Given the description of an element on the screen output the (x, y) to click on. 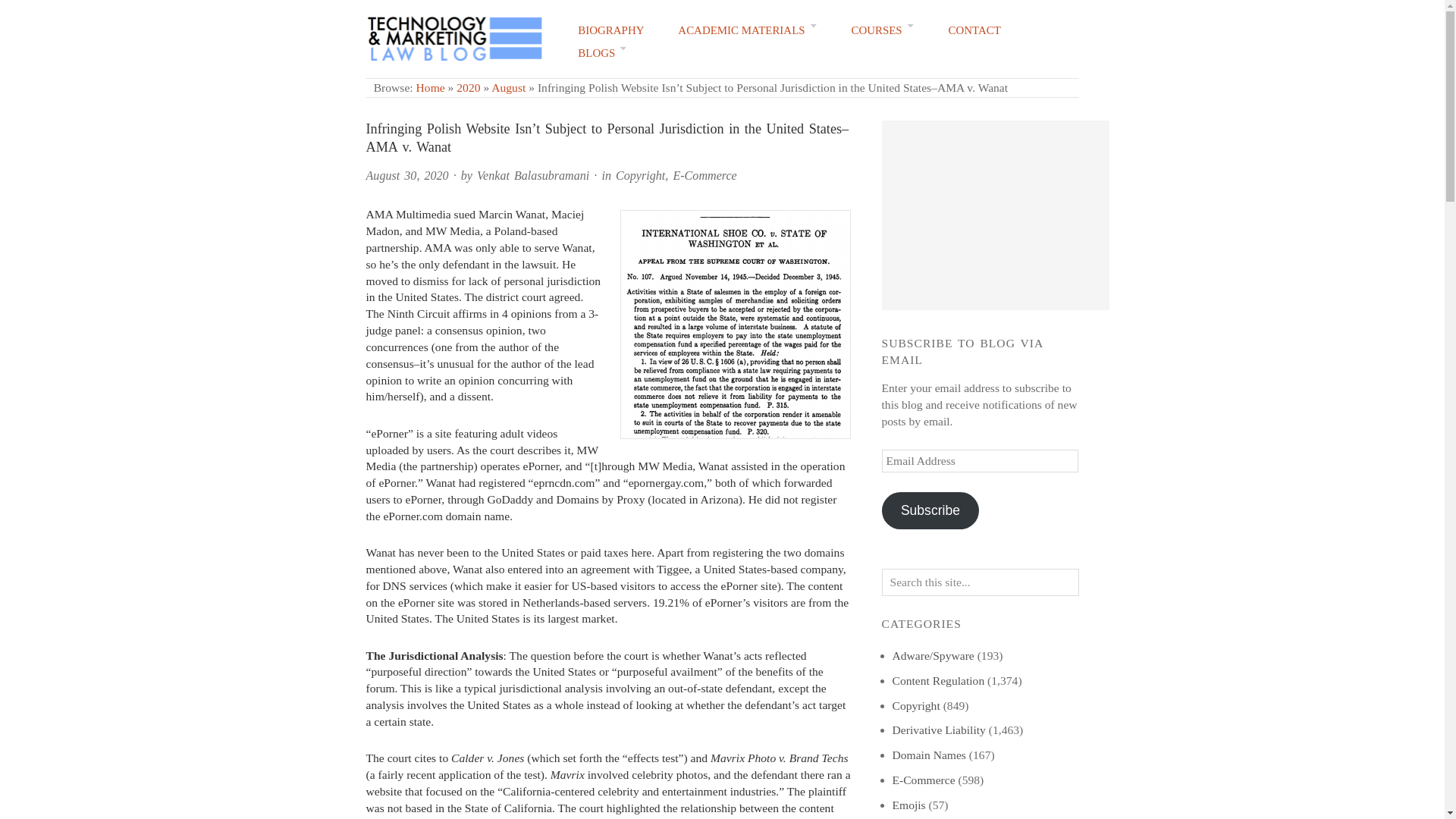
CONTACT (975, 30)
Copyright (640, 174)
2020 (468, 87)
2020 (468, 87)
BLOGS (602, 53)
Venkat Balasubramani (533, 174)
BIOGRAPHY (610, 30)
Posts by Venkat Balasubramani (533, 174)
August 30, 2020 (406, 174)
Search this site... (979, 582)
Advertisement (994, 215)
ACADEMIC MATERIALS (747, 30)
COURSES (882, 30)
August (508, 87)
Home (430, 87)
